Given the description of an element on the screen output the (x, y) to click on. 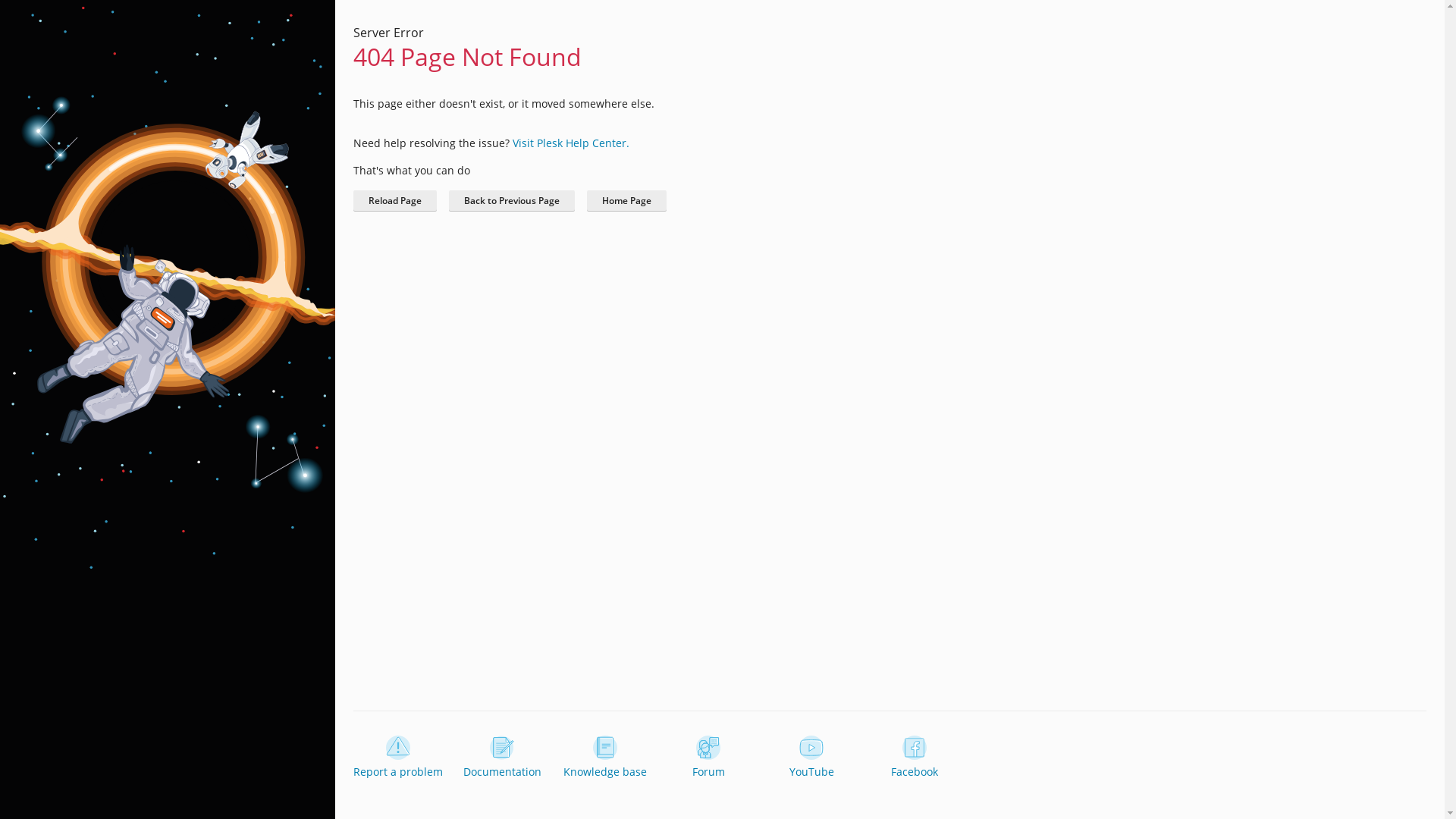
Forum Element type: text (708, 757)
YouTube Element type: text (811, 757)
Reload Page Element type: text (394, 200)
Documentation Element type: text (502, 757)
Visit Plesk Help Center. Element type: text (570, 142)
Knowledge base Element type: text (605, 757)
Back to Previous Page Element type: text (511, 200)
Report a problem Element type: text (397, 757)
Facebook Element type: text (914, 757)
Home Page Element type: text (626, 200)
